Given the description of an element on the screen output the (x, y) to click on. 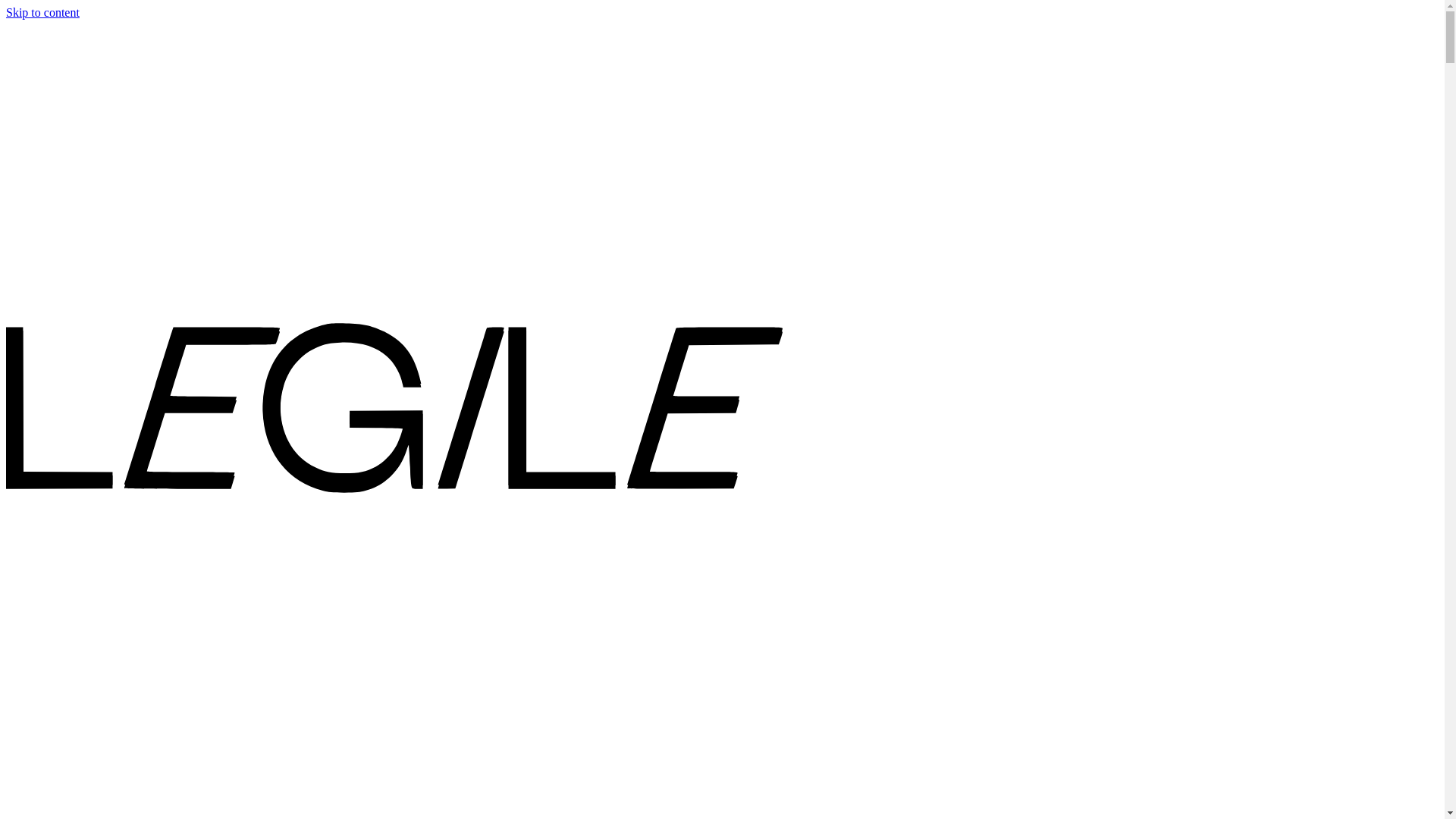
Skip to content Element type: text (42, 12)
